Given the description of an element on the screen output the (x, y) to click on. 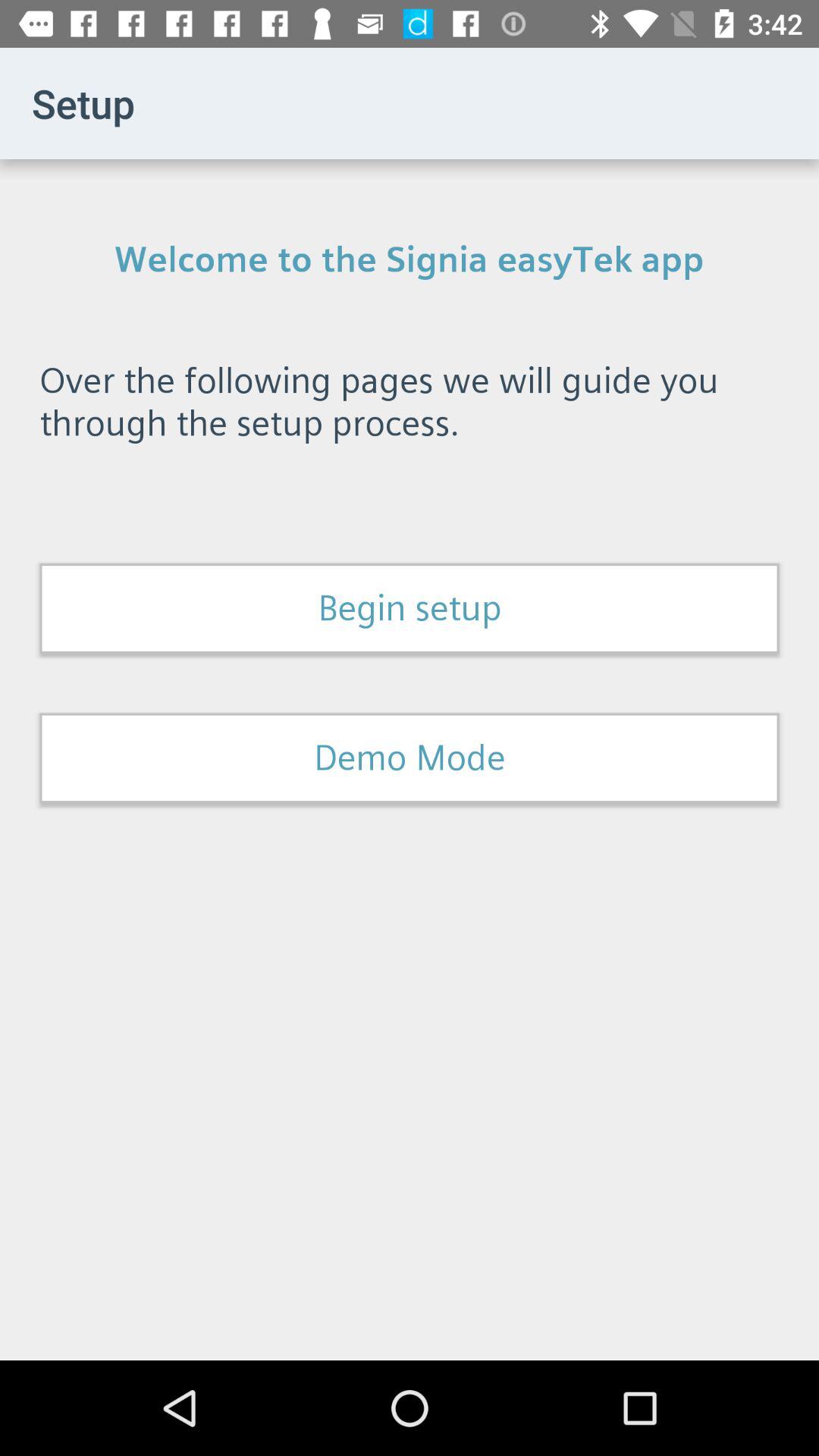
turn on the item above the demo mode item (409, 608)
